Given the description of an element on the screen output the (x, y) to click on. 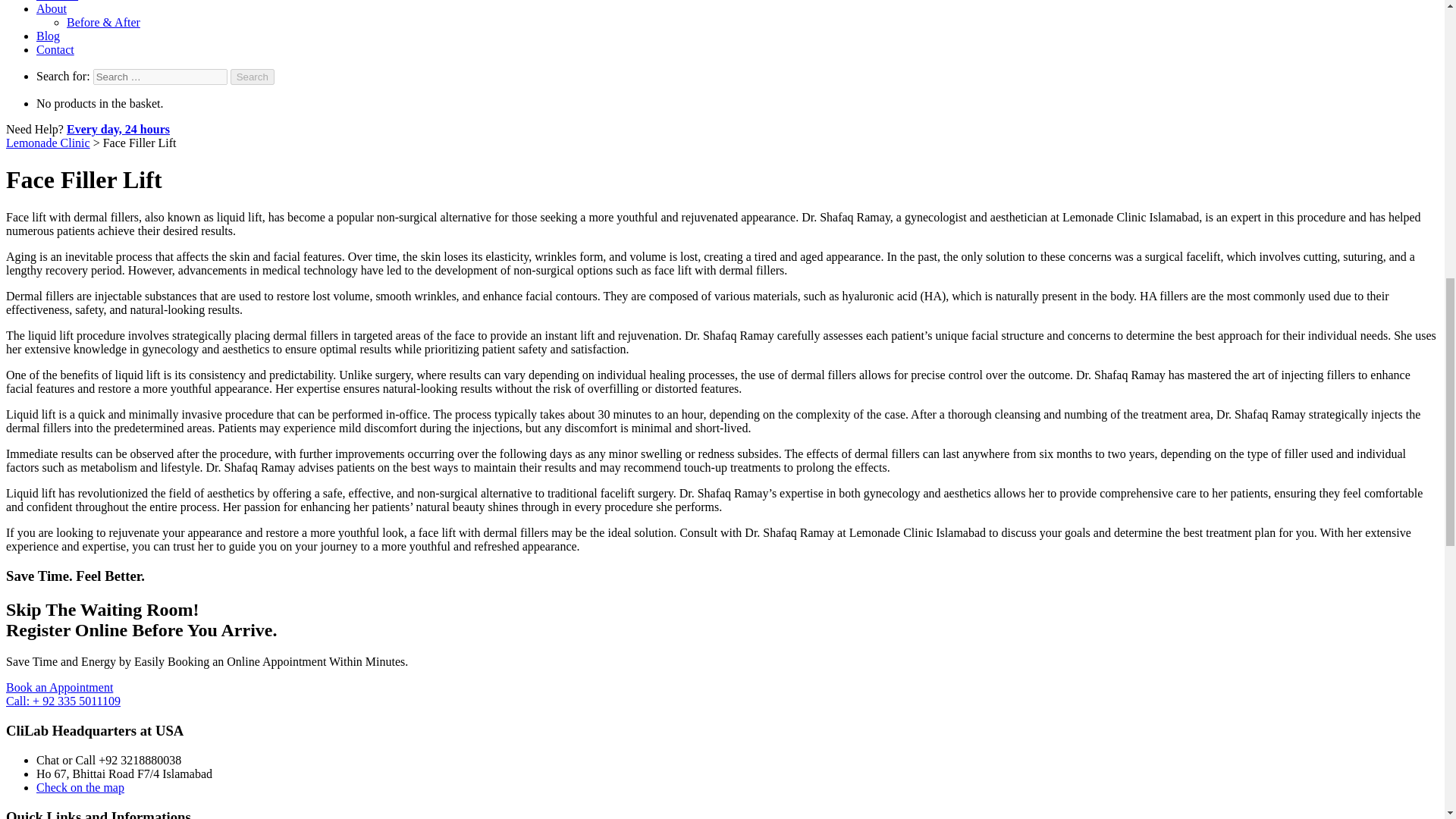
Search (252, 76)
Search (252, 76)
Go to Lemonade Clinic. (47, 142)
